Given the description of an element on the screen output the (x, y) to click on. 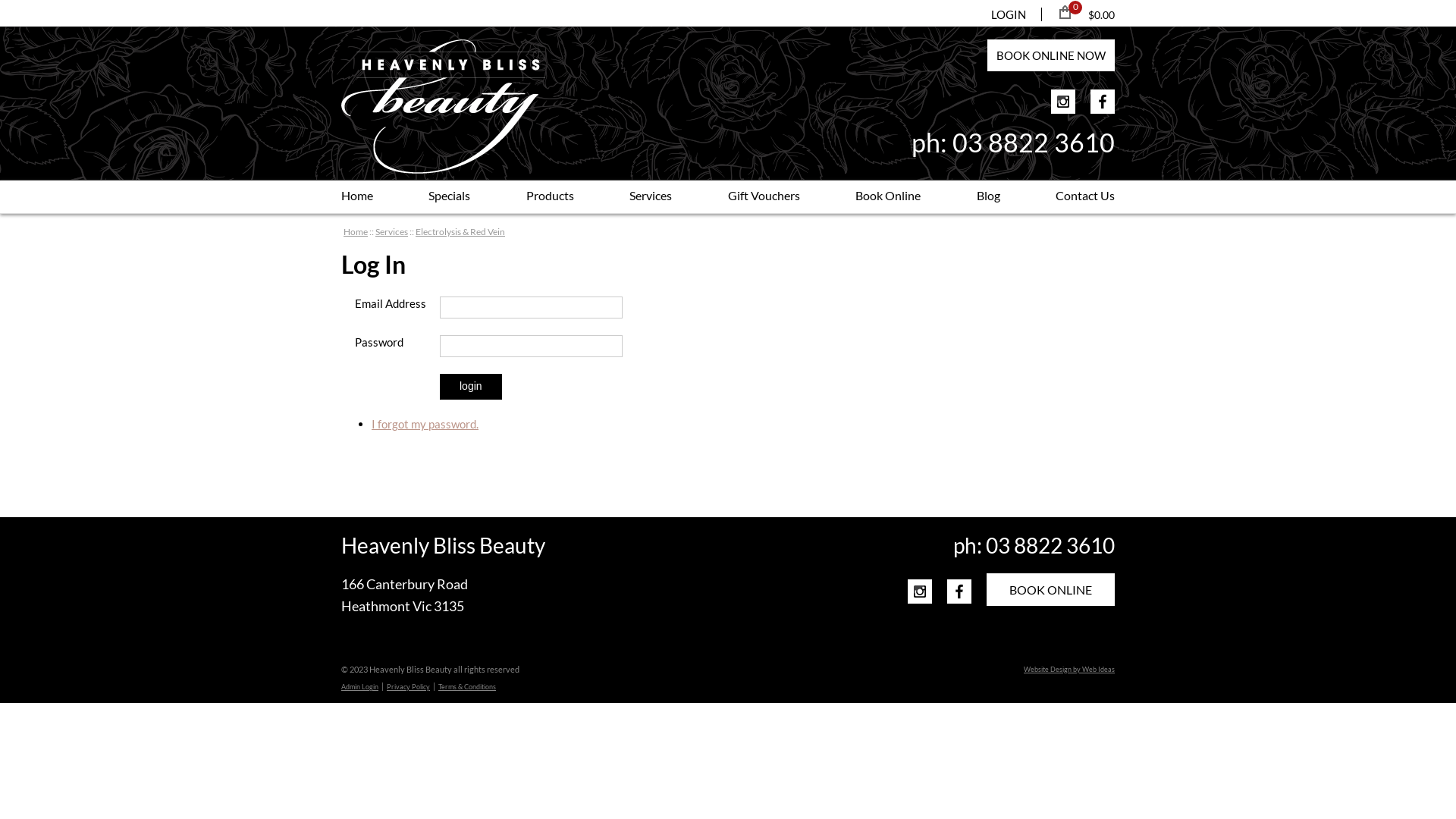
Blog Element type: text (988, 196)
Gift Vouchers Element type: text (764, 196)
Admin Login Element type: text (359, 686)
Terms & Conditions Element type: text (466, 686)
Home Element type: text (357, 196)
BOOK ONLINE NOW Element type: text (1050, 55)
03 8822 3610 Element type: text (1033, 141)
03 8822 3610 Element type: text (1049, 545)
I forgot my password. Element type: text (424, 423)
Services Element type: text (650, 196)
Specials Element type: text (449, 196)
Electrolysis & Red Vein Element type: text (460, 231)
Home Element type: text (355, 231)
0 items Element type: text (1075, 7)
BOOK ONLINE Element type: text (1050, 589)
$0.00 Element type: text (1101, 14)
Website Design by Web Ideas Element type: text (1068, 669)
login Element type: text (470, 386)
LOGIN Element type: text (1016, 14)
Contact Us Element type: text (1084, 196)
Products Element type: text (550, 196)
Privacy Policy Element type: text (407, 686)
Book Online Element type: text (887, 196)
Services Element type: text (391, 231)
